Given the description of an element on the screen output the (x, y) to click on. 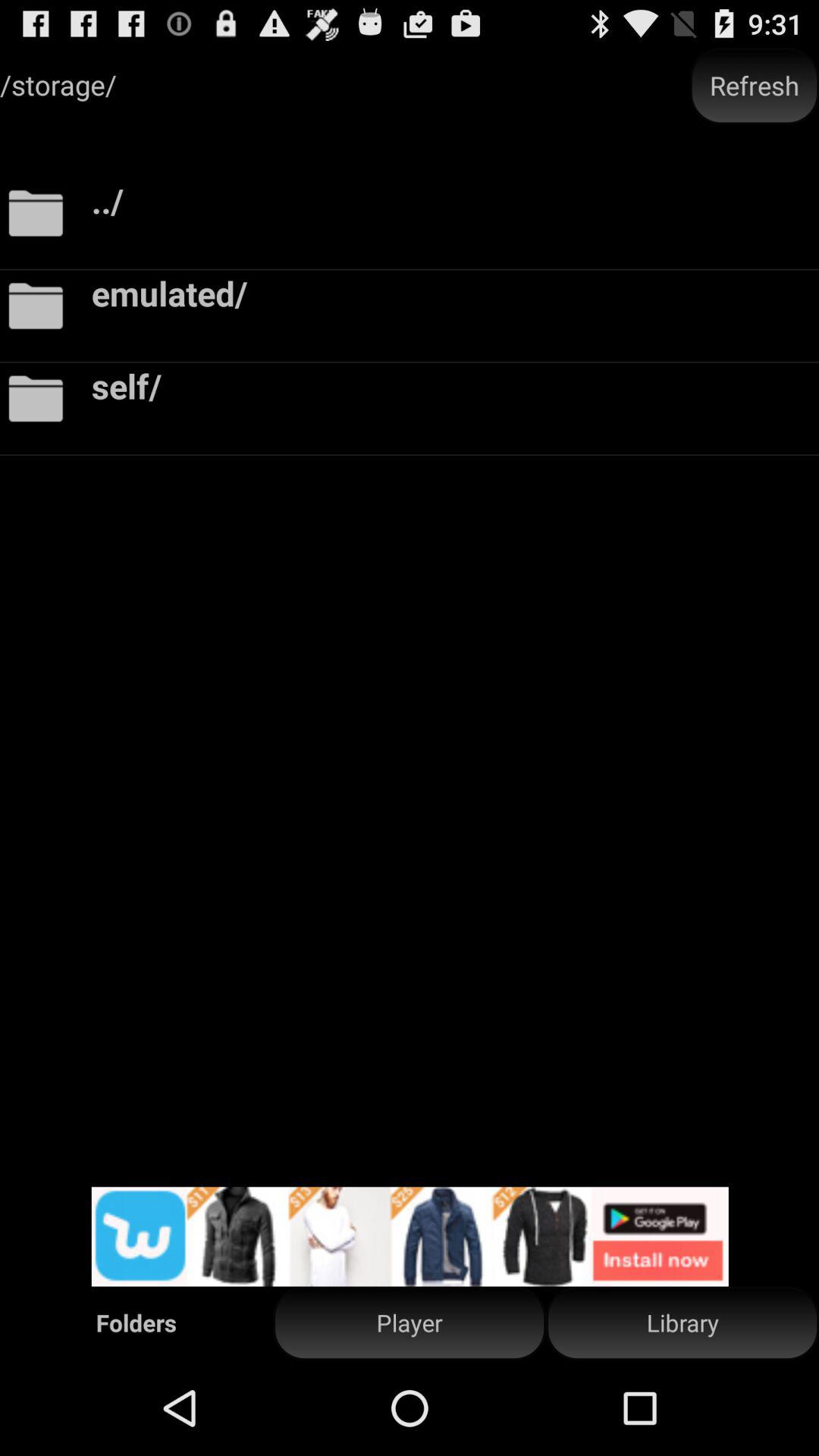
install app (409, 1236)
